Given the description of an element on the screen output the (x, y) to click on. 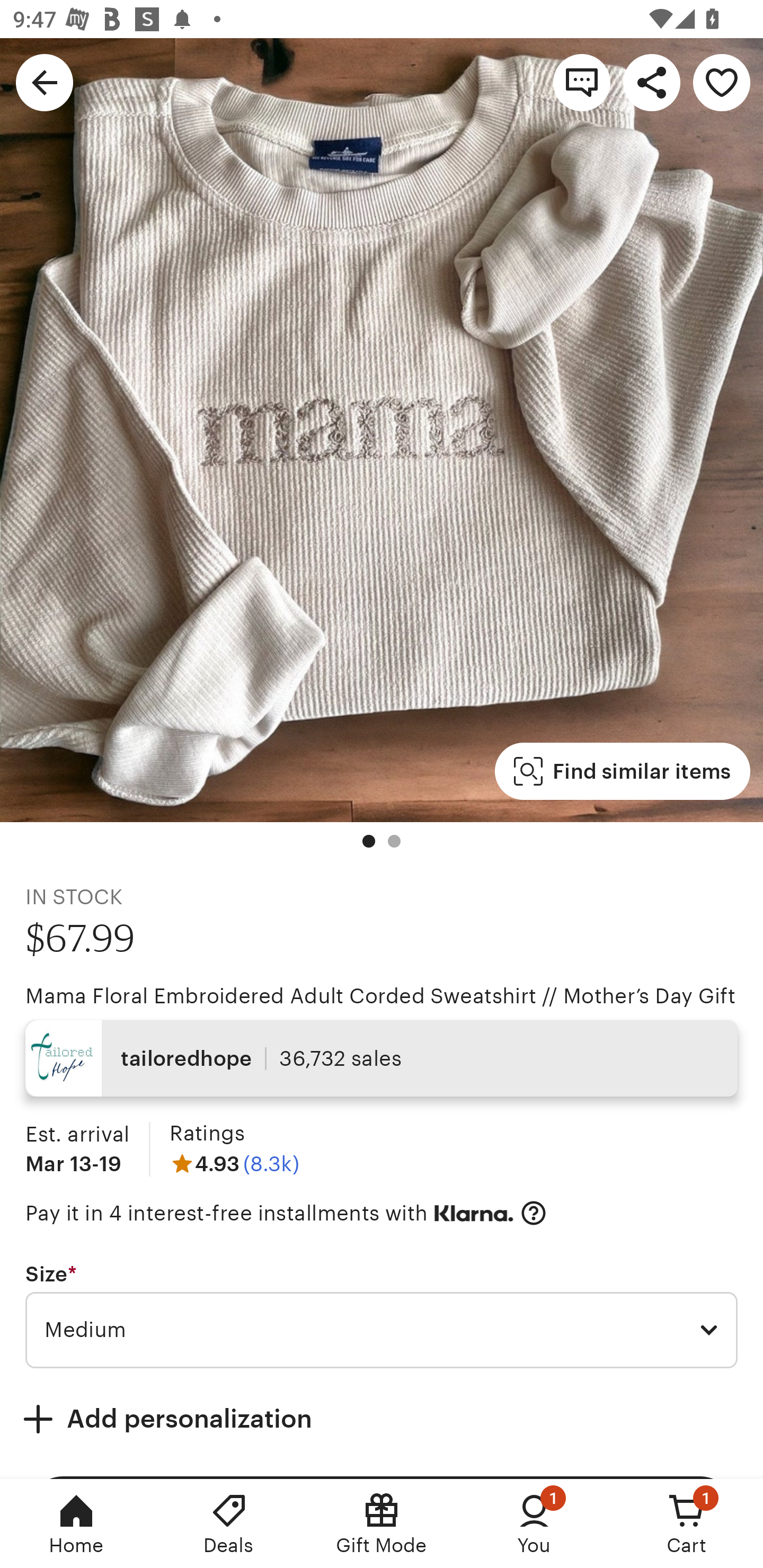
Navigate up (44, 81)
Contact shop (581, 81)
Share (651, 81)
Find similar items (622, 771)
tailoredhope 36,732 sales (381, 1058)
Ratings (206, 1133)
4.93 (8.3k) (234, 1163)
Size * Required Medium (381, 1315)
Medium (381, 1330)
Add personalization Add personalization Required (381, 1418)
Deals (228, 1523)
Gift Mode (381, 1523)
You, 1 new notification You (533, 1523)
Cart, 1 new notification Cart (686, 1523)
